Given the description of an element on the screen output the (x, y) to click on. 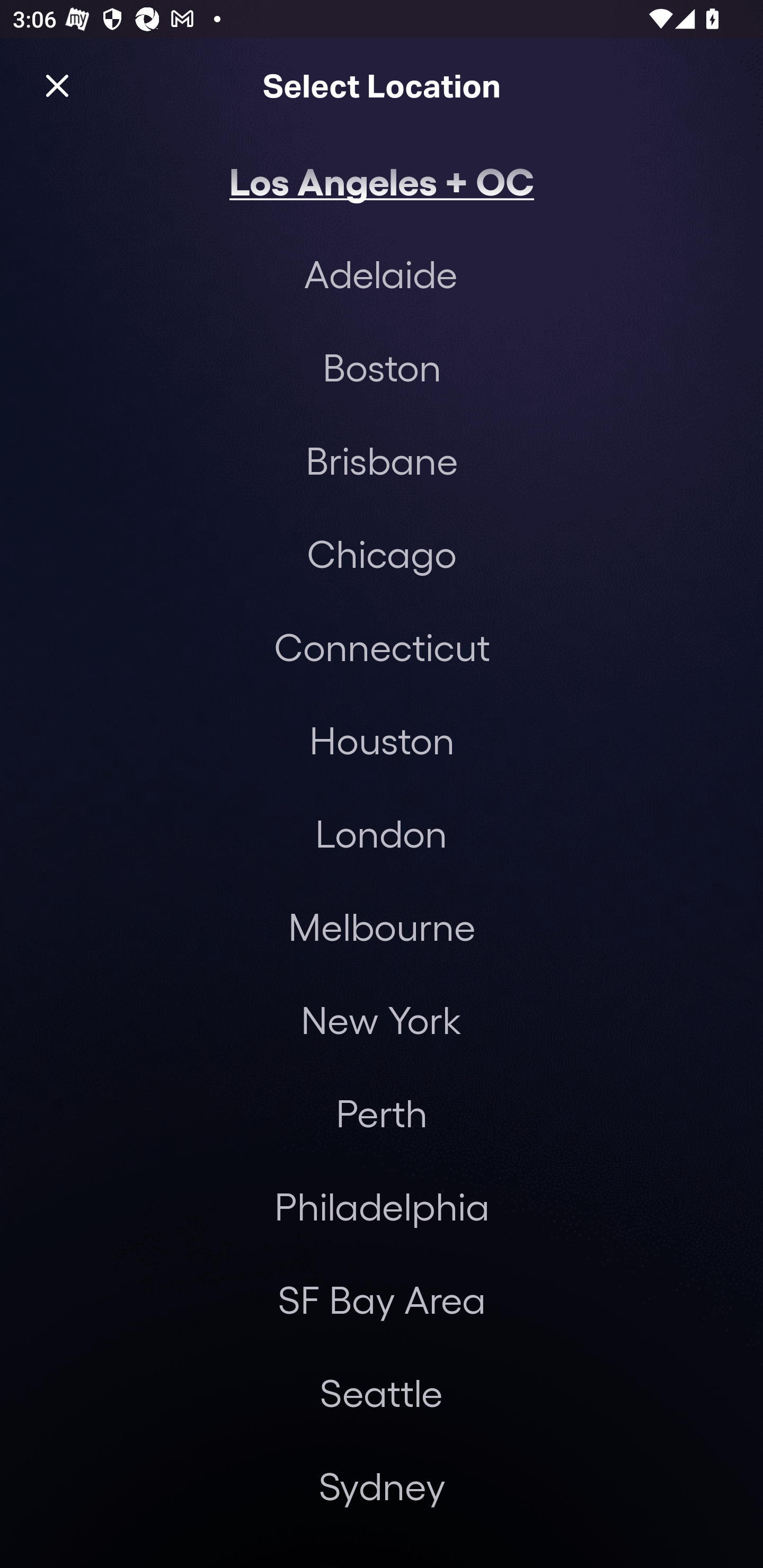
Close (57, 85)
Los Angeles + OC (381, 180)
Adelaide (380, 273)
Boston (381, 366)
Brisbane (381, 459)
Chicago (381, 553)
Connecticut (381, 646)
Houston (381, 740)
London (380, 833)
Melbourne (381, 926)
New York (380, 1019)
Perth (381, 1113)
Philadelphia (381, 1206)
SF Bay Area (381, 1298)
Seattle (380, 1392)
Sydney (381, 1485)
